Given the description of an element on the screen output the (x, y) to click on. 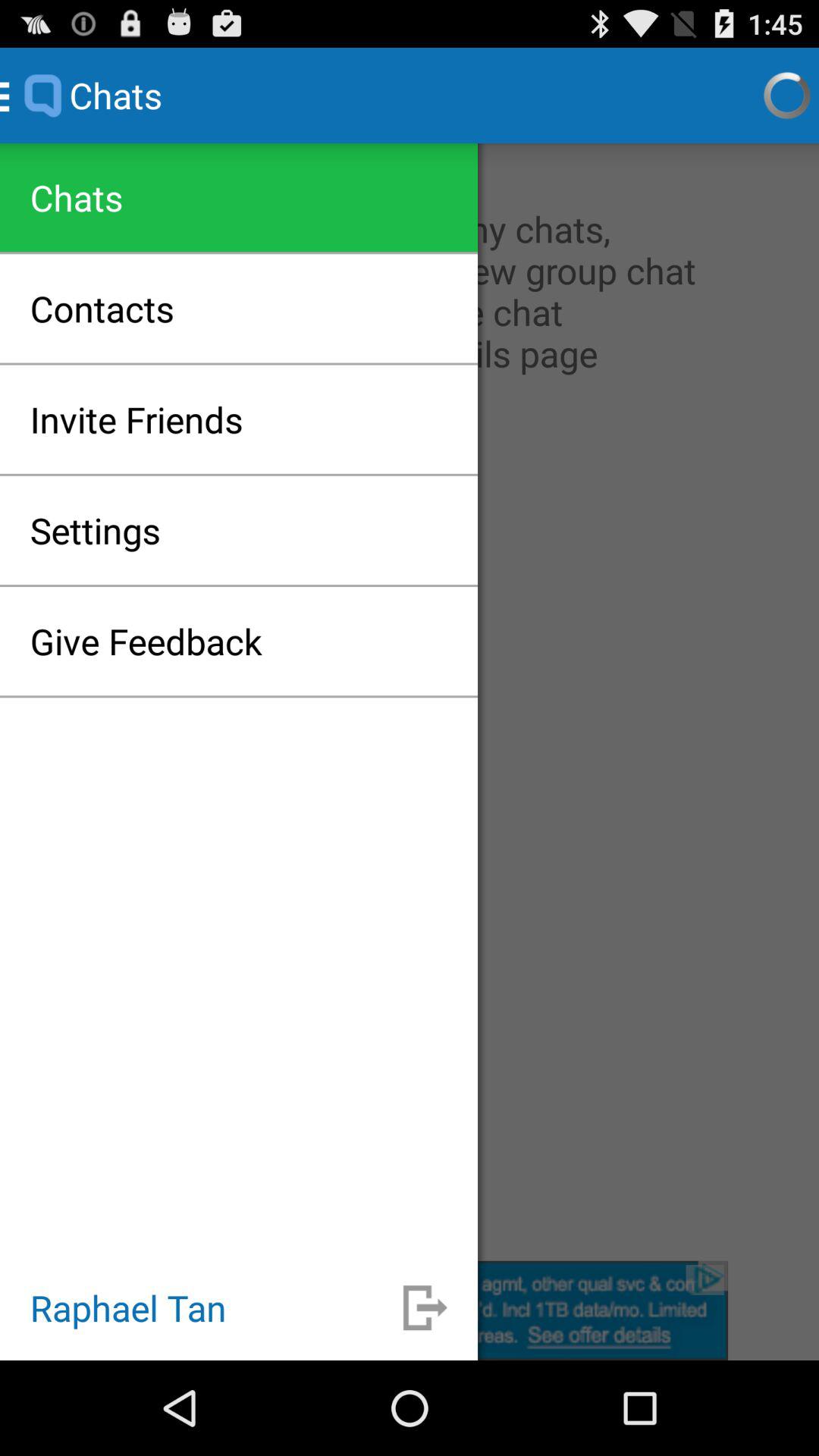
navigation menu (409, 701)
